Given the description of an element on the screen output the (x, y) to click on. 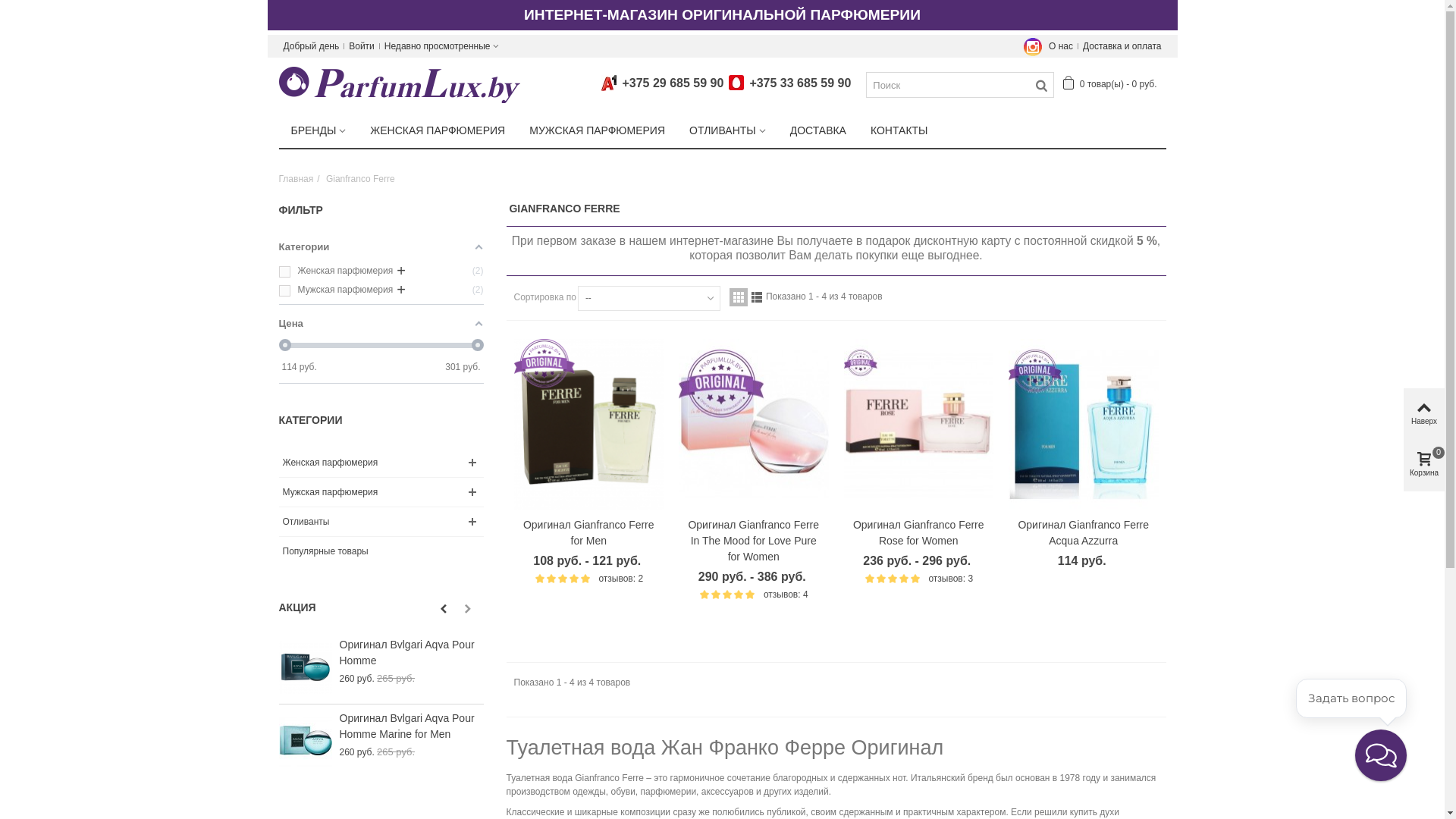
ParfumLux Element type: hover (399, 83)
+ Element type: text (400, 270)
+375 29 685 59 90+375 33 685 59 90 Element type: text (731, 82)
Gianfranco Ferre Element type: text (360, 178)
Instagram Element type: hover (1032, 45)
+ Element type: text (400, 289)
